Given the description of an element on the screen output the (x, y) to click on. 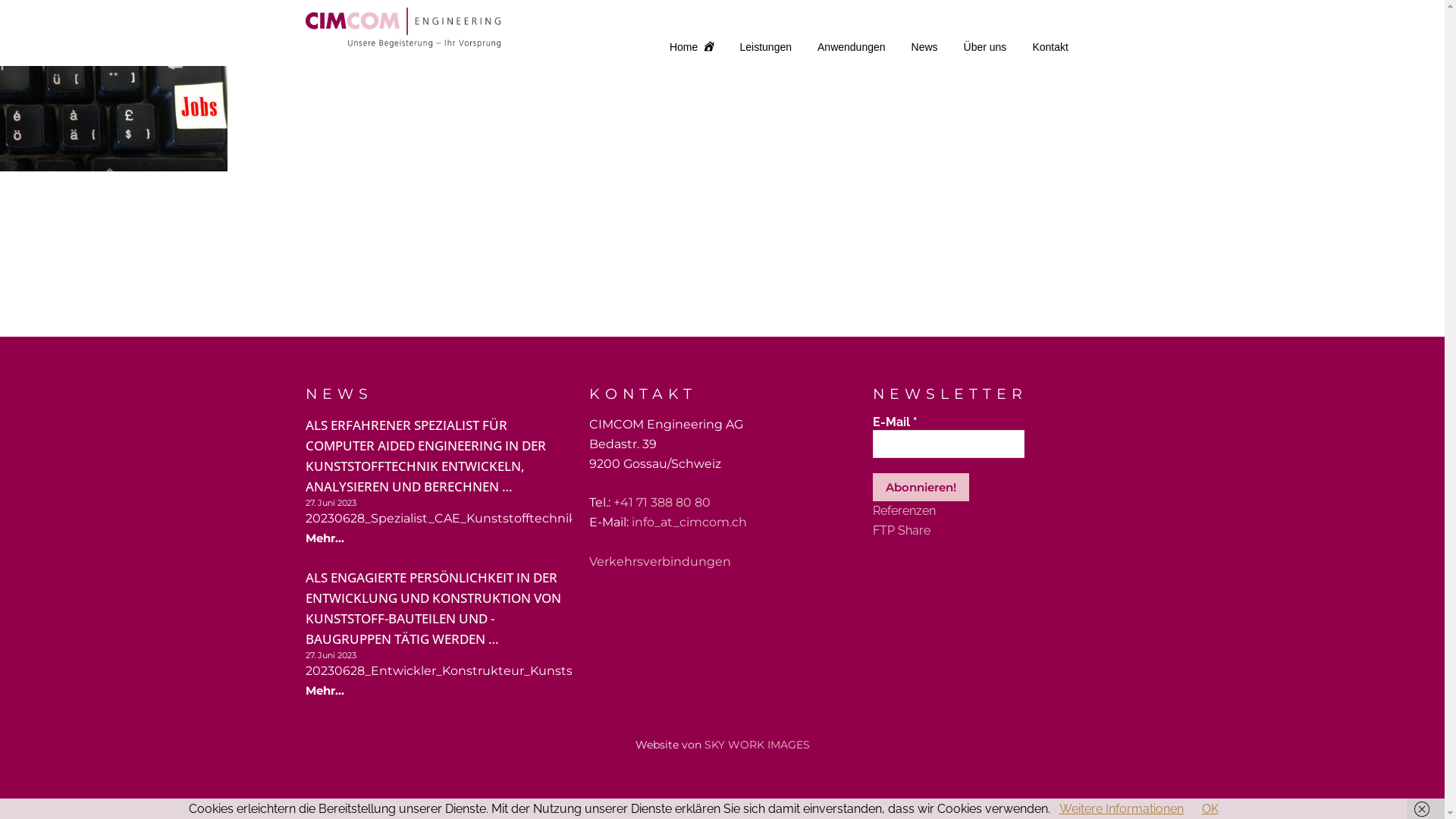
News Element type: text (924, 46)
Abonnieren! Element type: text (920, 487)
Leistungen Element type: text (766, 46)
Anwendungen Element type: text (851, 46)
Mehr... Element type: text (323, 690)
SKY WORK IMAGES Element type: text (756, 744)
FTP Share Element type: text (901, 530)
Weitere Informationen Element type: text (1120, 808)
Kontakt Element type: text (1049, 46)
Referenzen Element type: text (903, 510)
E-Mail Element type: hover (948, 443)
OK Element type: text (1209, 808)
info_at_cimcom.ch Element type: text (688, 521)
+41 71 388 80 80 Element type: text (661, 502)
Verkehrsverbindungen Element type: text (660, 561)
Mehr... Element type: text (323, 538)
Home Element type: text (691, 46)
